Given the description of an element on the screen output the (x, y) to click on. 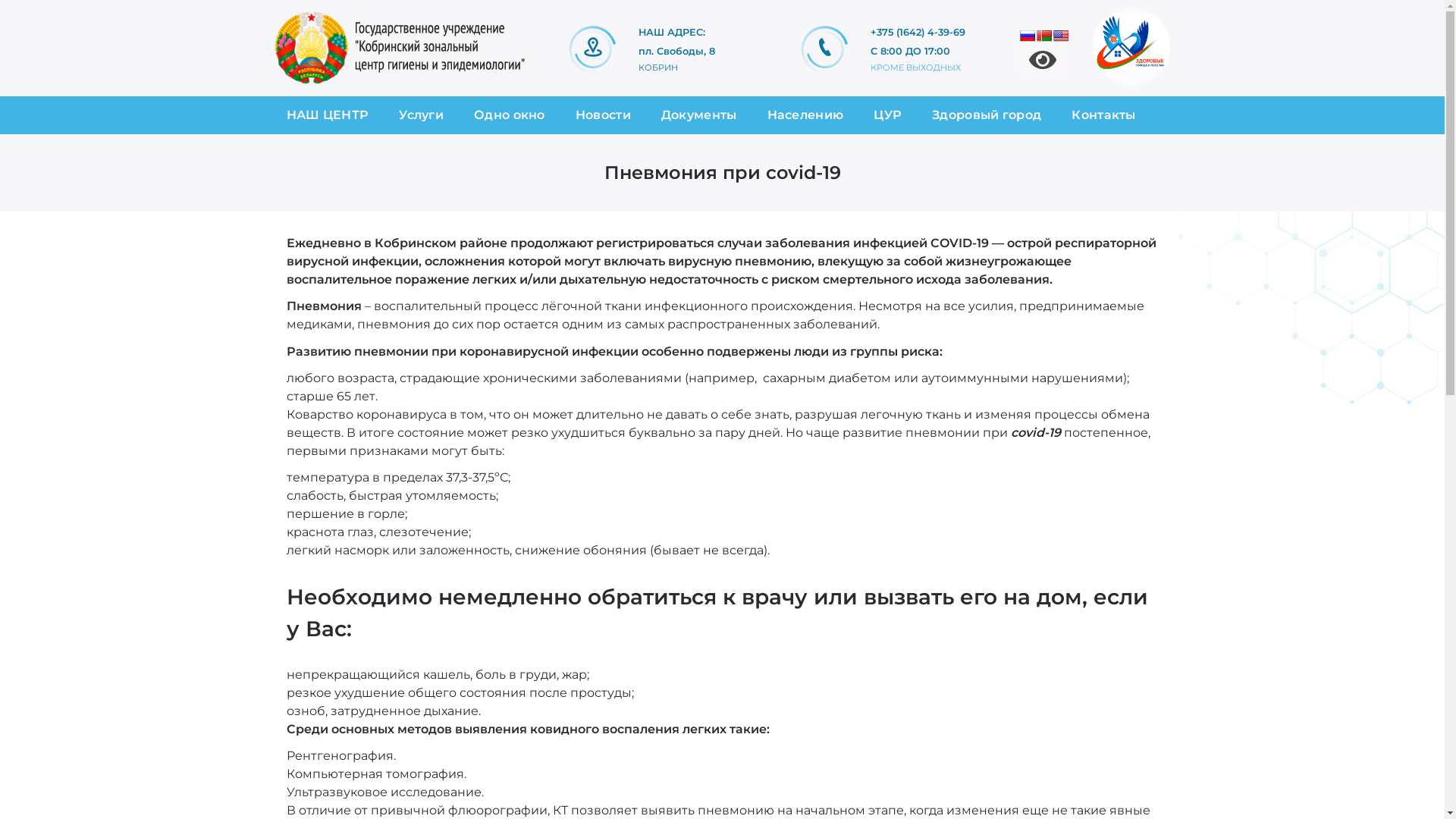
Russian Element type: hover (1027, 35)
+375 (1642) 4-39-69 Element type: text (933, 31)
Belarusian Element type: hover (1043, 35)
English Element type: hover (1060, 35)
